Given the description of an element on the screen output the (x, y) to click on. 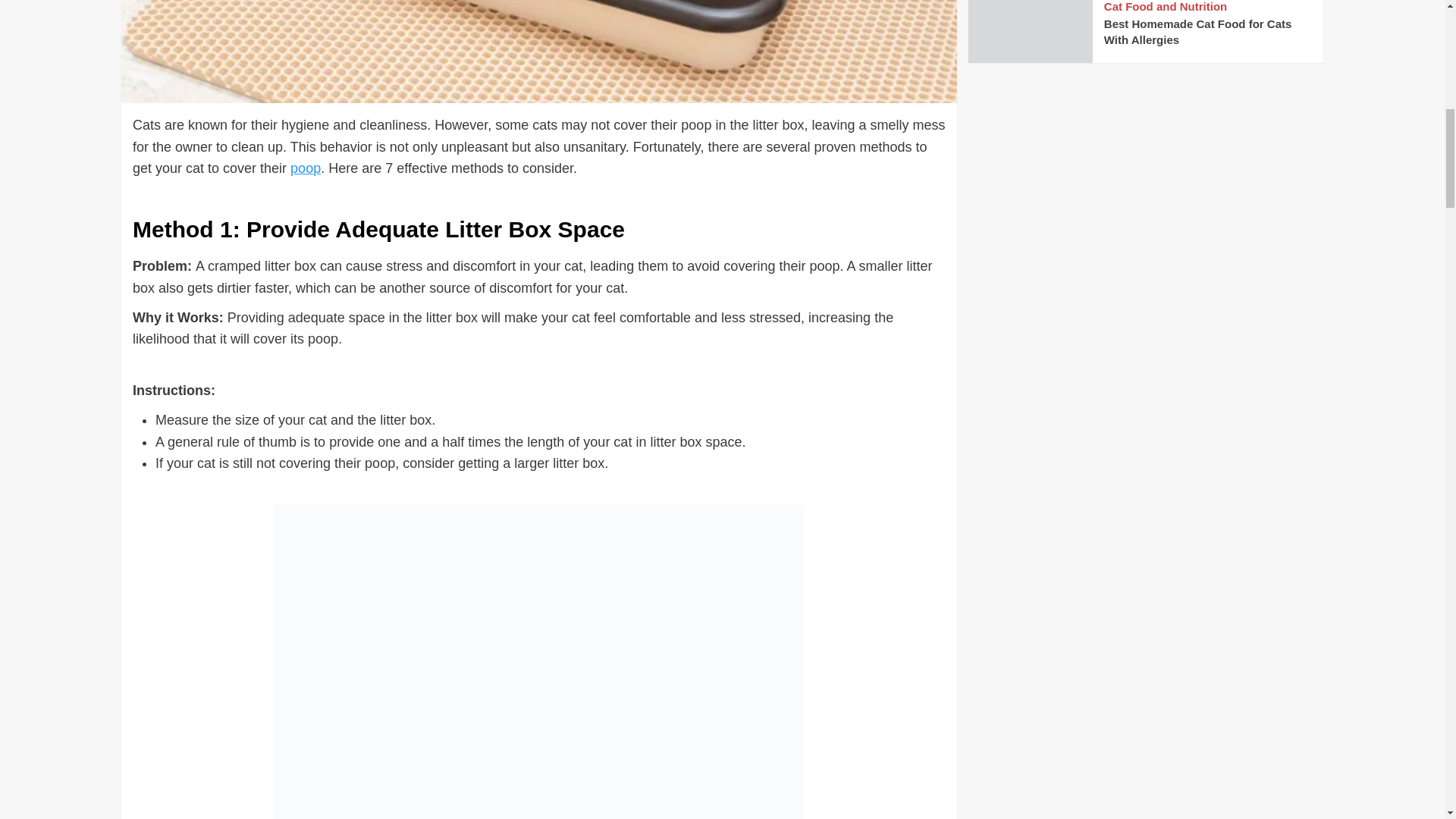
poop (304, 168)
How to Get Your Cat to Cover Their Poop: 7 Proven Methods 1 (538, 51)
